Given the description of an element on the screen output the (x, y) to click on. 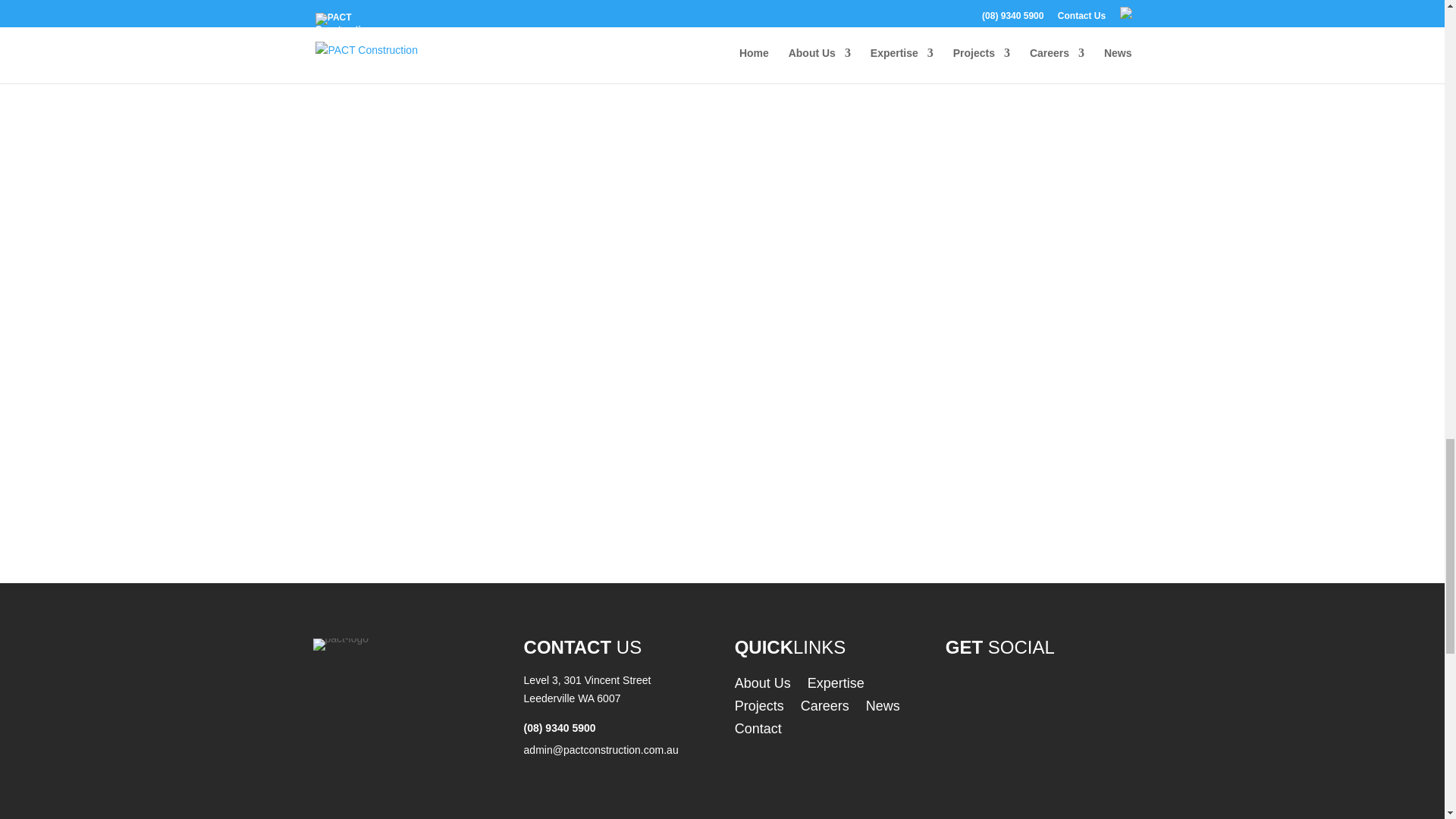
Careers (824, 709)
News (882, 709)
Expertise (836, 686)
About Us (762, 686)
Contact (758, 731)
Projects (759, 709)
